Given the description of an element on the screen output the (x, y) to click on. 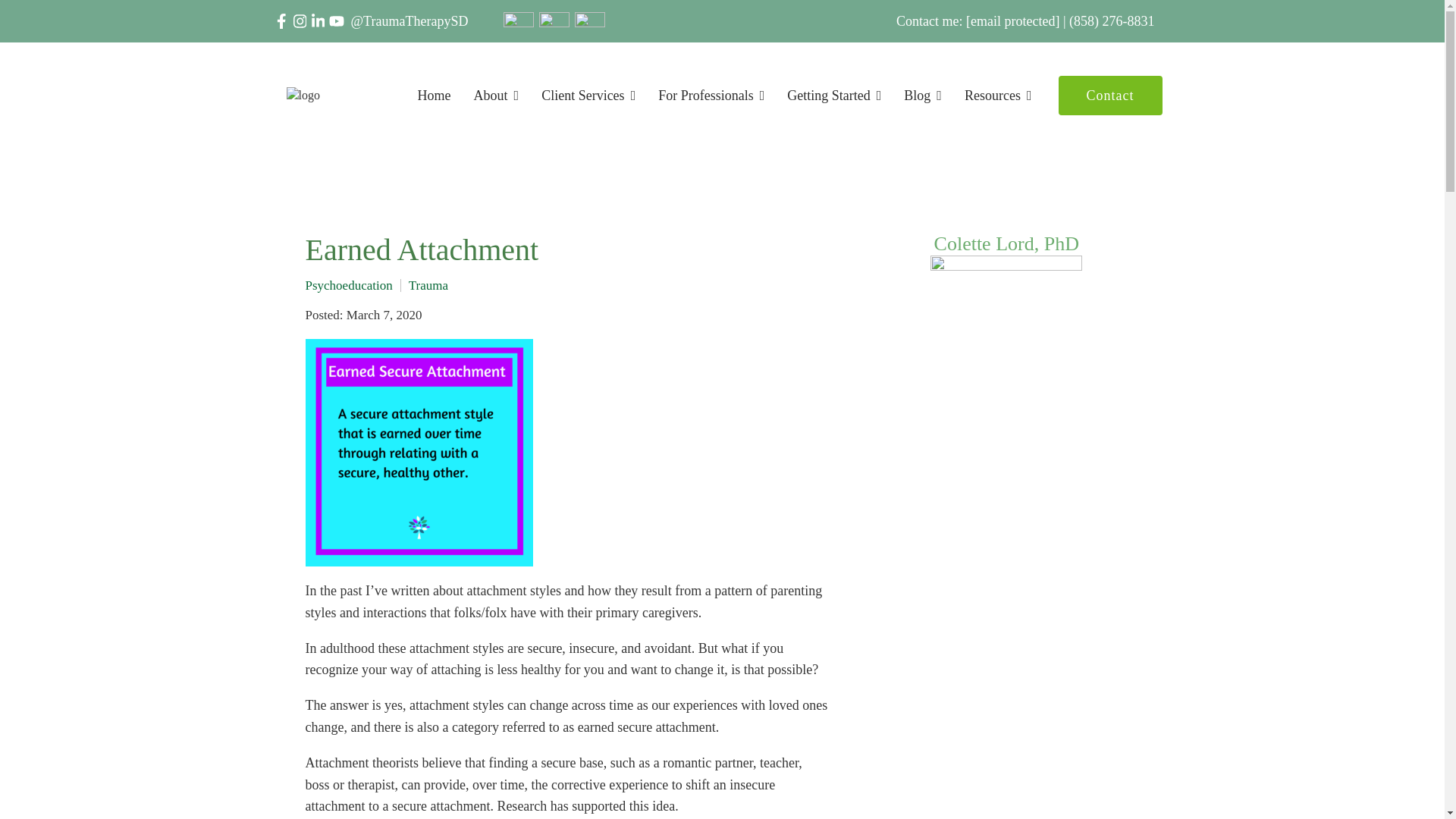
Getting Started (833, 95)
Resources (997, 95)
About (496, 95)
Client Services (587, 95)
Home (434, 95)
Blog (923, 95)
For Professionals (711, 95)
